Given the description of an element on the screen output the (x, y) to click on. 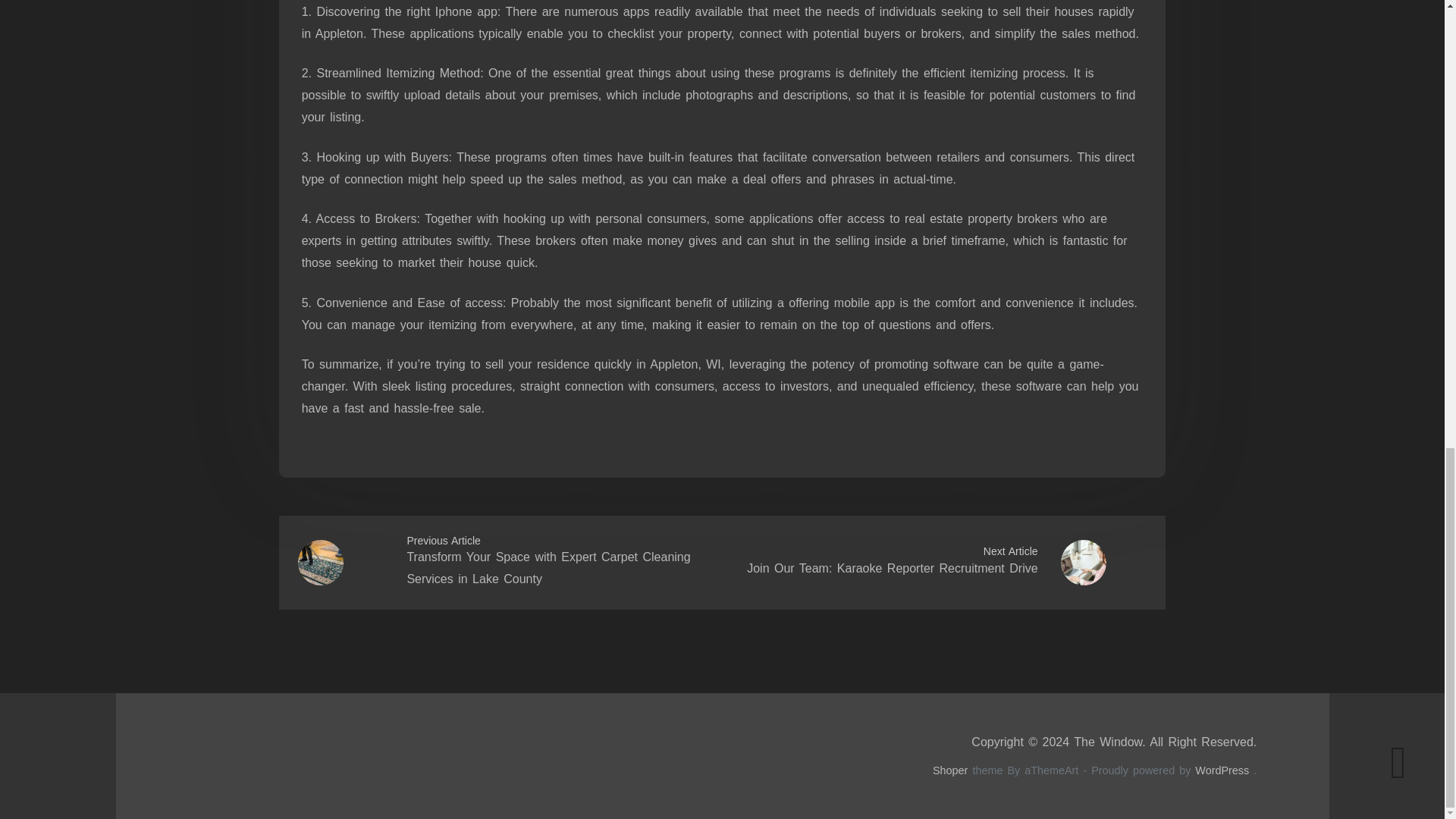
Shoper (950, 770)
Join Our Team: Karaoke Reporter Recruitment Drive (891, 567)
WordPress (1222, 770)
